Given the description of an element on the screen output the (x, y) to click on. 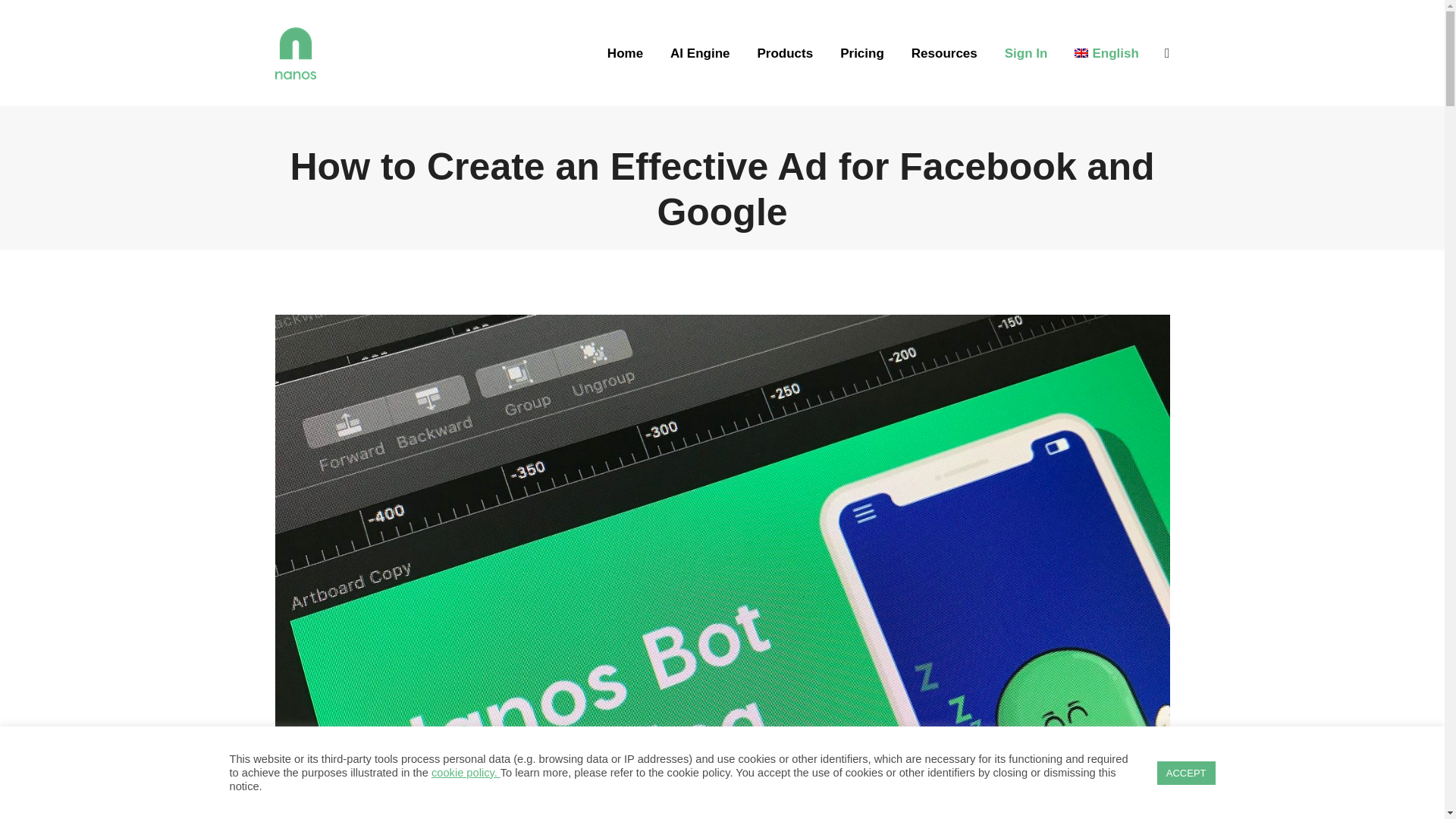
Go! (27, 16)
English (1106, 53)
AI Engine (699, 53)
Pricing (861, 53)
Sign In (1026, 53)
English (1106, 53)
Resources (943, 53)
Products (784, 53)
Home (625, 53)
